Given the description of an element on the screen output the (x, y) to click on. 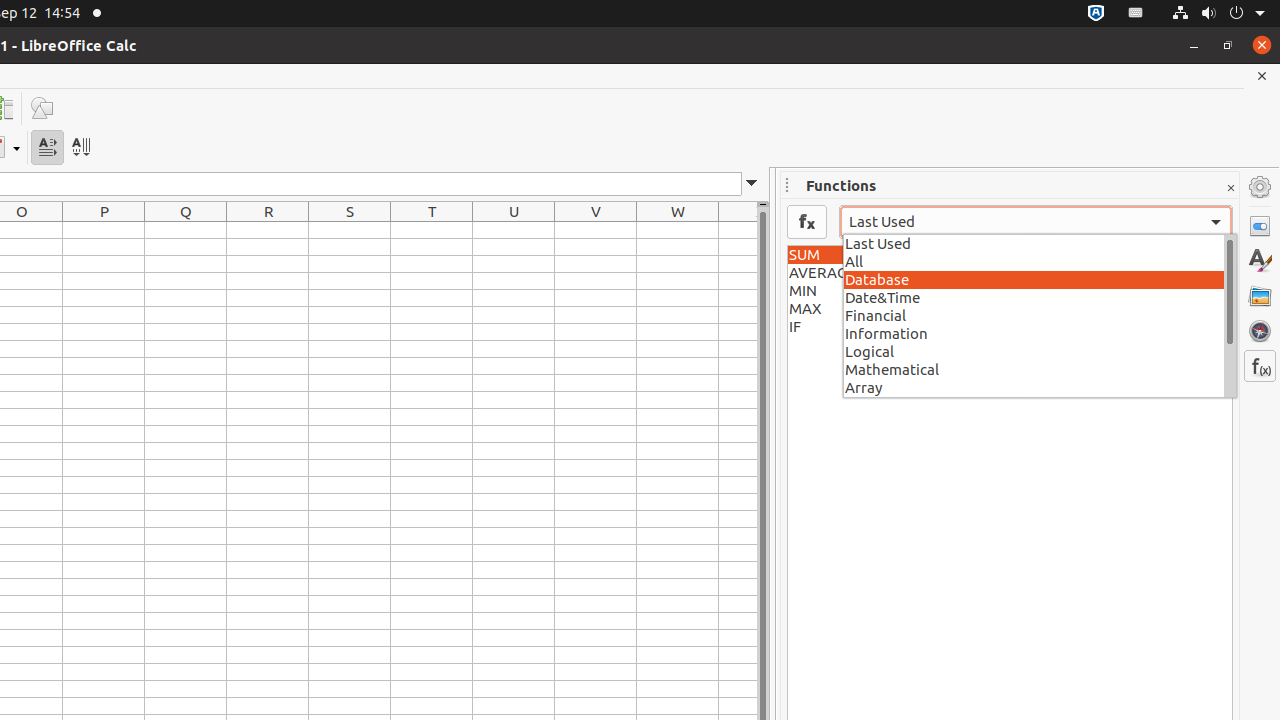
Information Element type: list-item (1040, 333)
X1 Element type: table-cell (738, 230)
Text direction from top to bottom Element type: toggle-button (80, 147)
Navigator Element type: radio-button (1260, 331)
Expand Formula Bar Element type: push-button (752, 183)
